Given the description of an element on the screen output the (x, y) to click on. 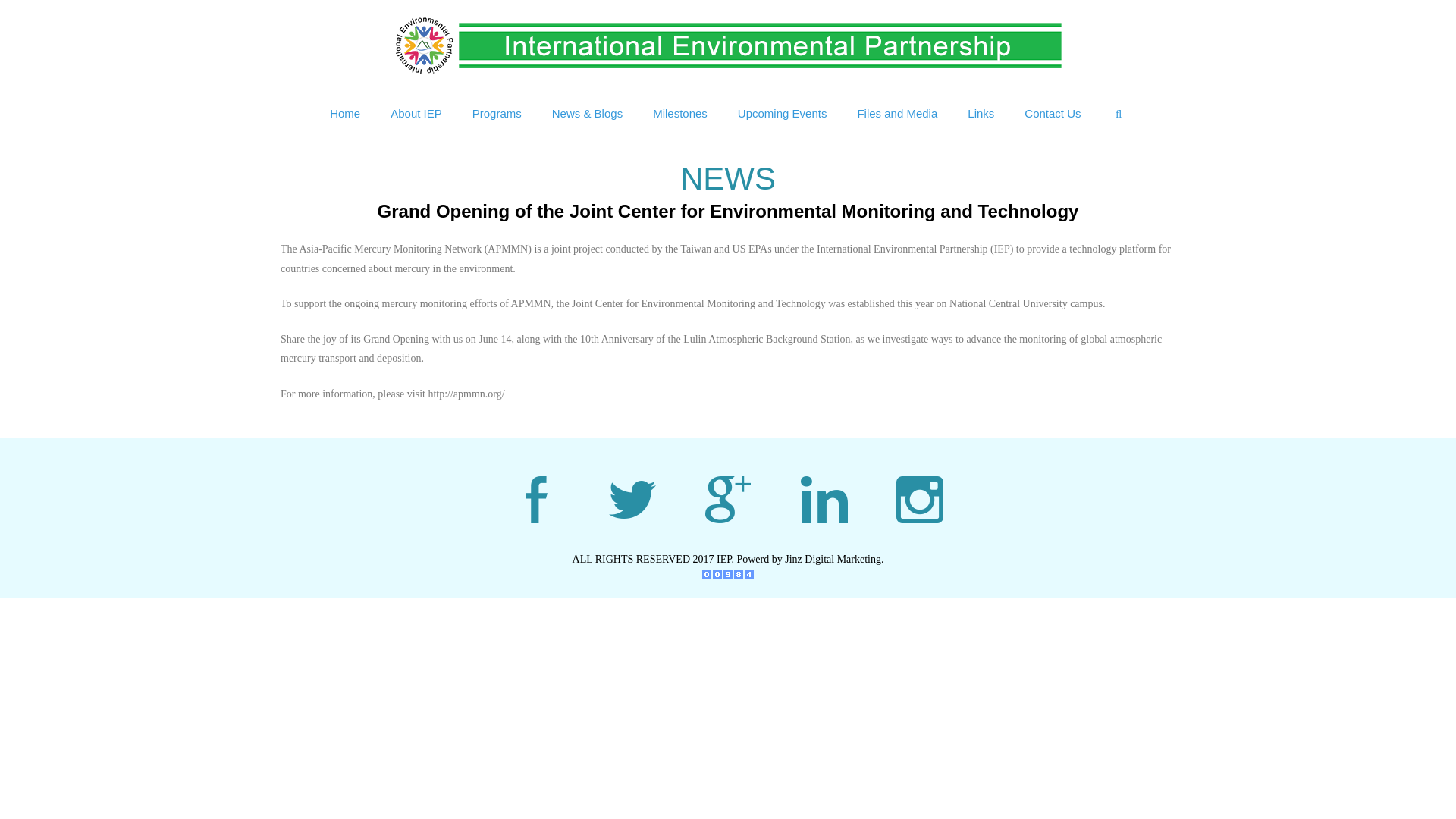
Contact Us (1052, 113)
instagram (919, 499)
google (727, 499)
twitter (631, 499)
Files and Media (896, 113)
Upcoming Events (782, 113)
facebook (535, 499)
About IEP (416, 113)
IEP (727, 45)
IEP (727, 44)
Home (344, 113)
Programs (497, 113)
linkedin (823, 499)
Milestones (679, 113)
Links (980, 113)
